Given the description of an element on the screen output the (x, y) to click on. 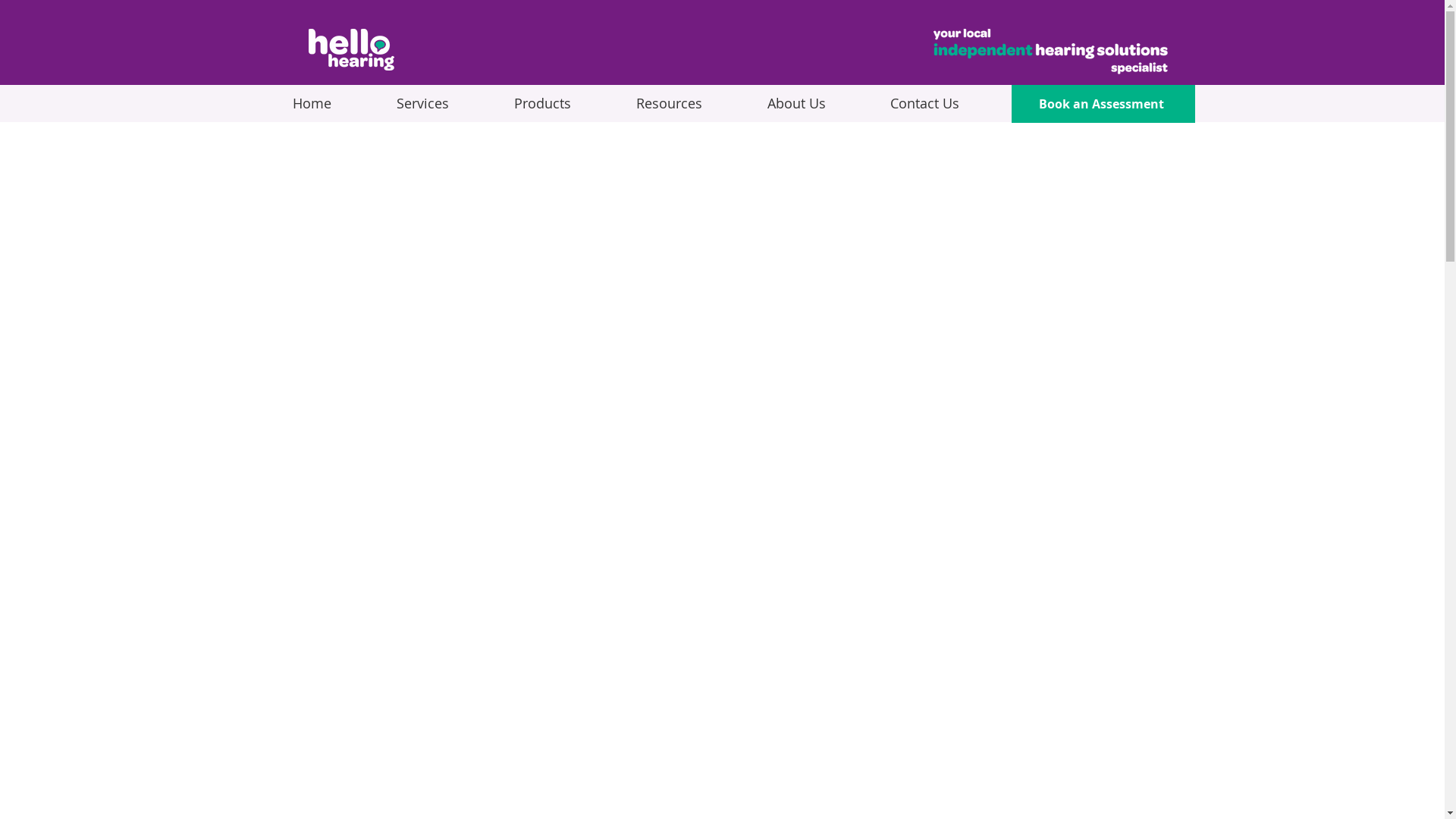
Products Element type: text (563, 103)
Embedded Content Element type: hover (722, 45)
Home Element type: hover (350, 49)
Services Element type: text (443, 103)
Home Element type: text (332, 103)
Book an Assessment Element type: text (1103, 103)
Contact Us Element type: text (944, 103)
About Us Element type: text (816, 103)
